Given the description of an element on the screen output the (x, y) to click on. 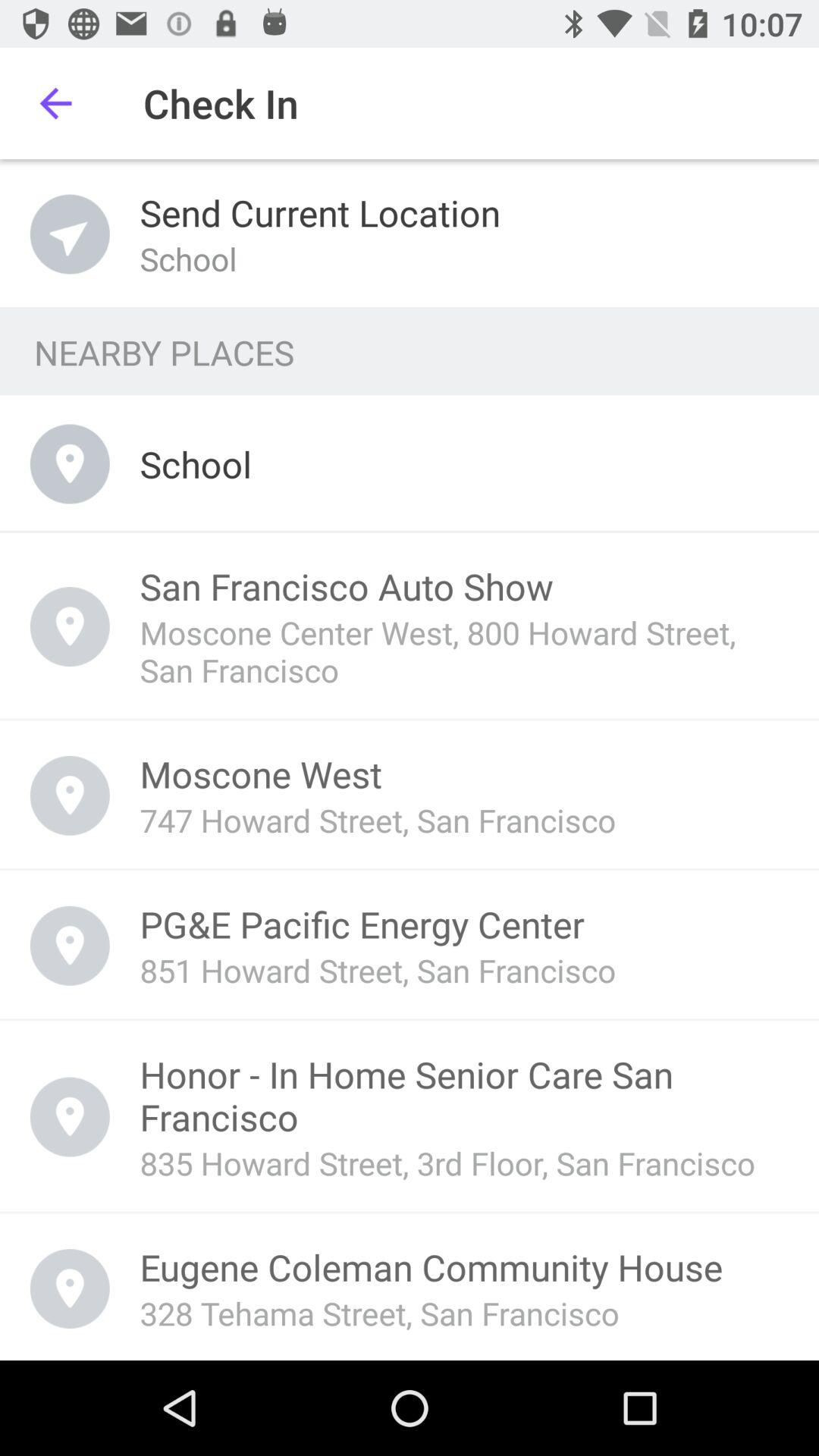
turn off icon next to check in item (55, 103)
